Given the description of an element on the screen output the (x, y) to click on. 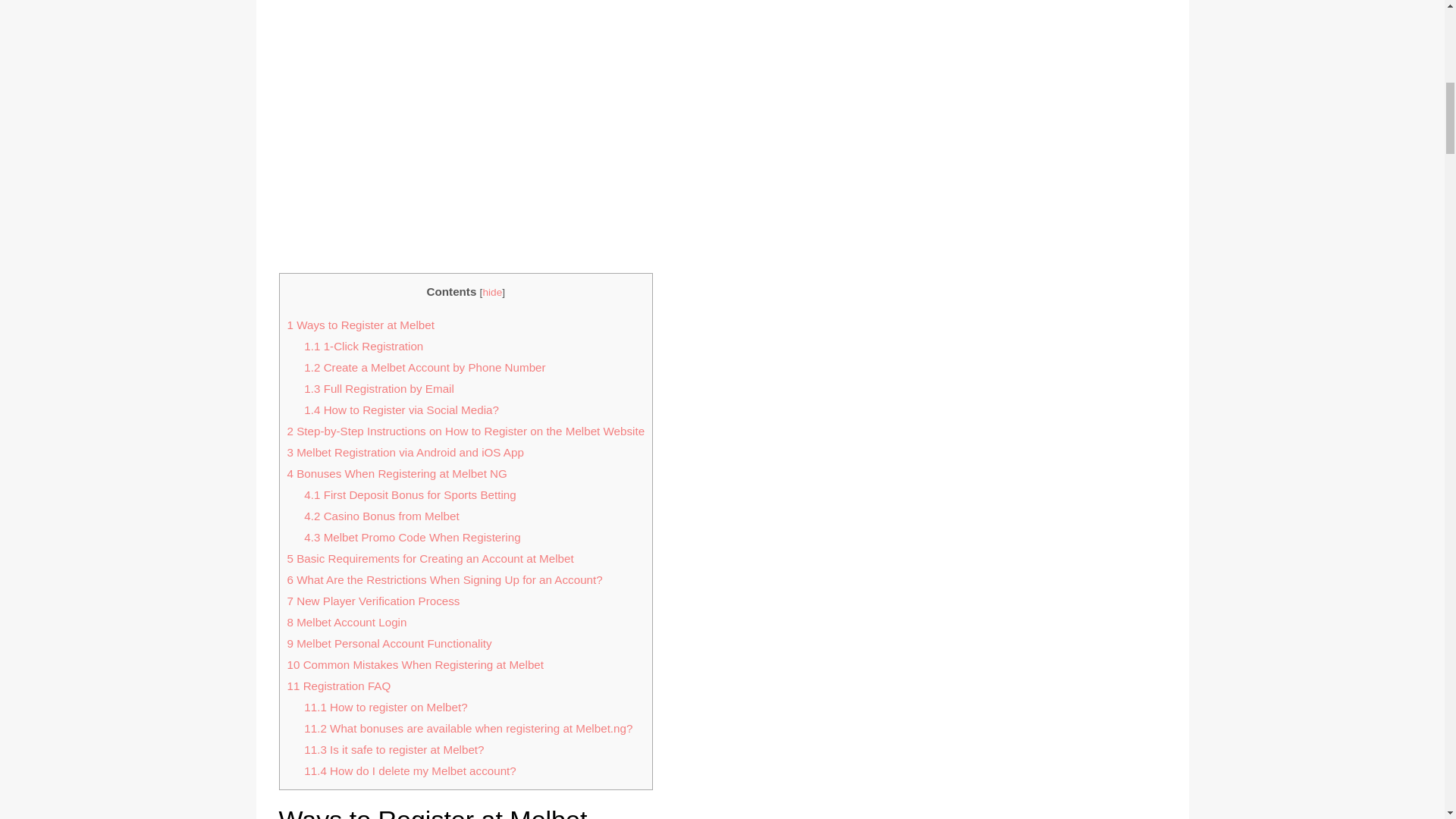
8 Melbet Account Login (346, 621)
5 Basic Requirements for Creating an Account at Melbet (429, 558)
hide (491, 292)
9 Melbet Personal Account Functionality (389, 643)
11.3 Is it safe to register at Melbet? (393, 748)
1.1 1-Click Registration (363, 345)
4.3 Melbet Promo Code When Registering (411, 536)
10 Common Mistakes When Registering at Melbet (414, 664)
1.4 How to Register via Social Media? (401, 409)
